Given the description of an element on the screen output the (x, y) to click on. 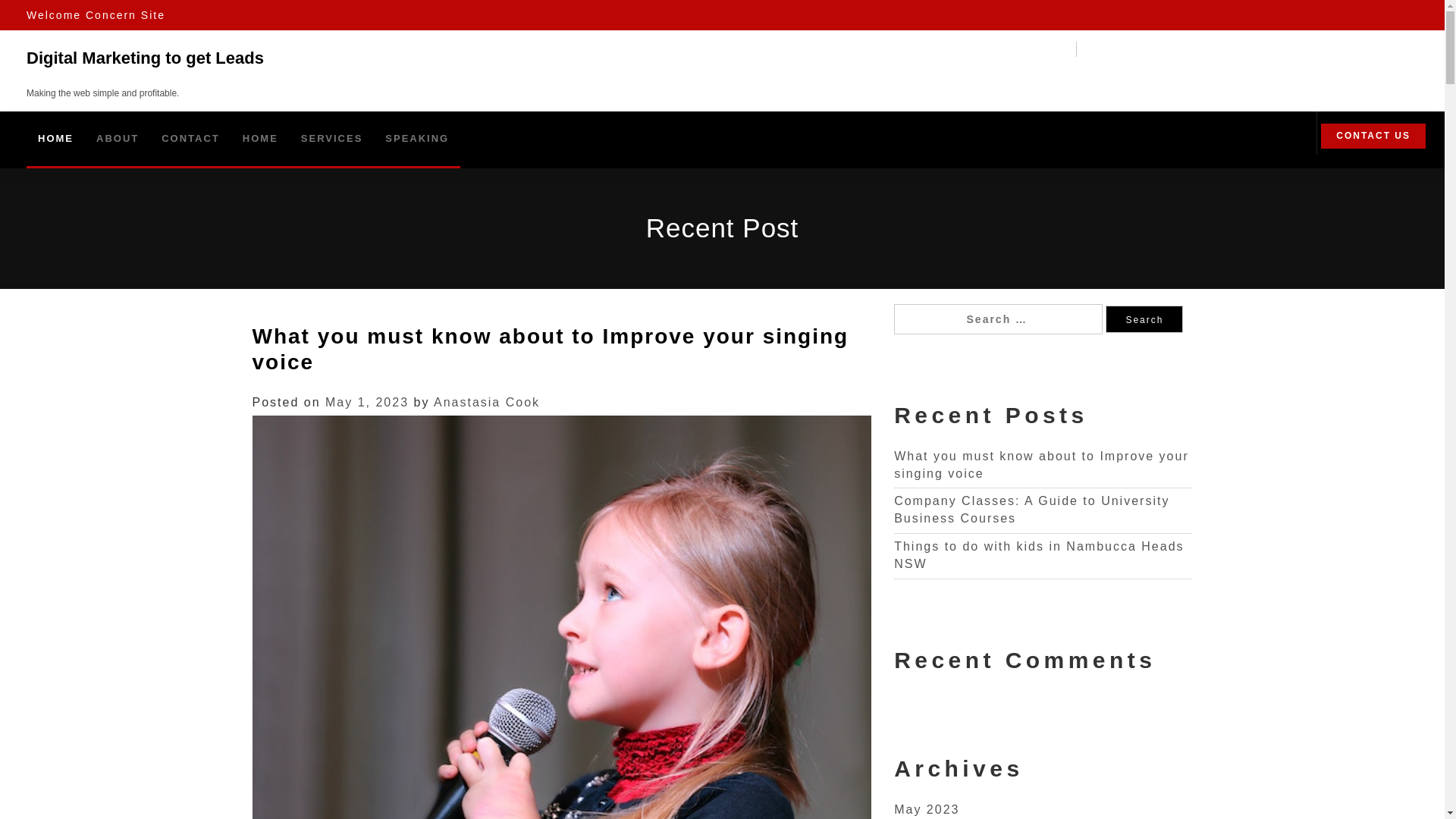
CONTACT US Element type: text (1373, 135)
HOME Element type: text (260, 138)
What you must know about to Improve your singing voice Element type: text (1041, 464)
Search Element type: text (1144, 318)
SERVICES Element type: text (331, 138)
Anastasia Cook Element type: text (486, 401)
Company Classes: A Guide to University Business Courses Element type: text (1031, 509)
Things to do with kids in Nambucca Heads NSW Element type: text (1038, 554)
What you must know about to Improve your singing voice Element type: text (549, 349)
May 2023 Element type: text (926, 809)
SPEAKING Element type: text (416, 138)
HOME Element type: text (55, 138)
May 1, 2023 Element type: text (366, 401)
CONTACT Element type: text (190, 138)
Digital Marketing to get Leads Element type: text (144, 57)
ABOUT Element type: text (117, 138)
